Given the description of an element on the screen output the (x, y) to click on. 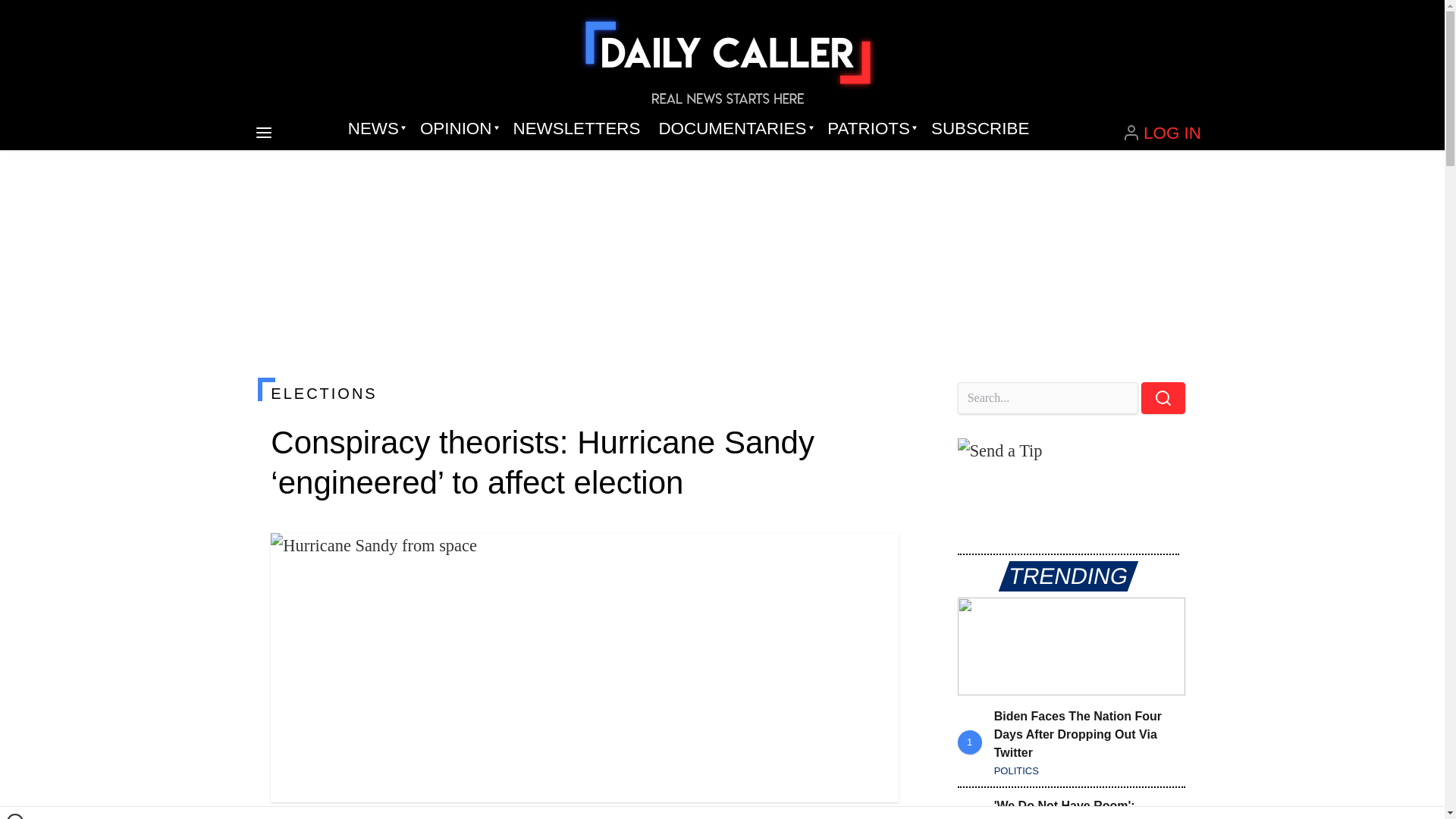
PATRIOTS (869, 128)
Toggle fullscreen (874, 556)
DOCUMENTARIES (733, 128)
NEWS (374, 128)
OPINION (456, 128)
SUBSCRIBE (979, 128)
NEWSLETTERS (576, 128)
Close window (14, 816)
ELECTIONS (584, 393)
